Given the description of an element on the screen output the (x, y) to click on. 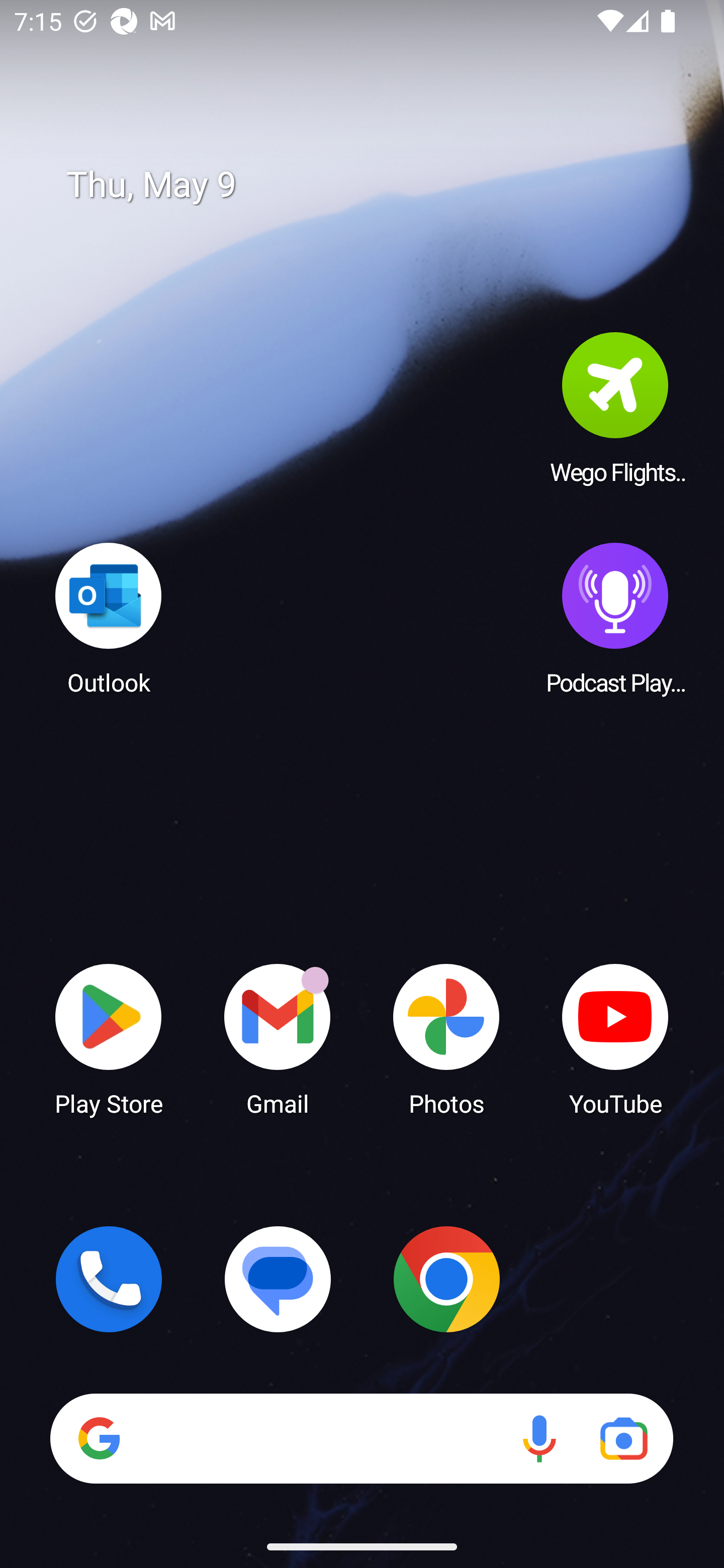
Thu, May 9 (375, 184)
Wego Flights & Hotels (615, 407)
Outlook (108, 617)
Podcast Player (615, 617)
Play Store (108, 1038)
Gmail Gmail has 18 notifications (277, 1038)
Photos (445, 1038)
YouTube (615, 1038)
Phone (108, 1279)
Messages (277, 1279)
Chrome (446, 1279)
Search Voice search Google Lens (361, 1438)
Voice search (539, 1438)
Google Lens (623, 1438)
